Given the description of an element on the screen output the (x, y) to click on. 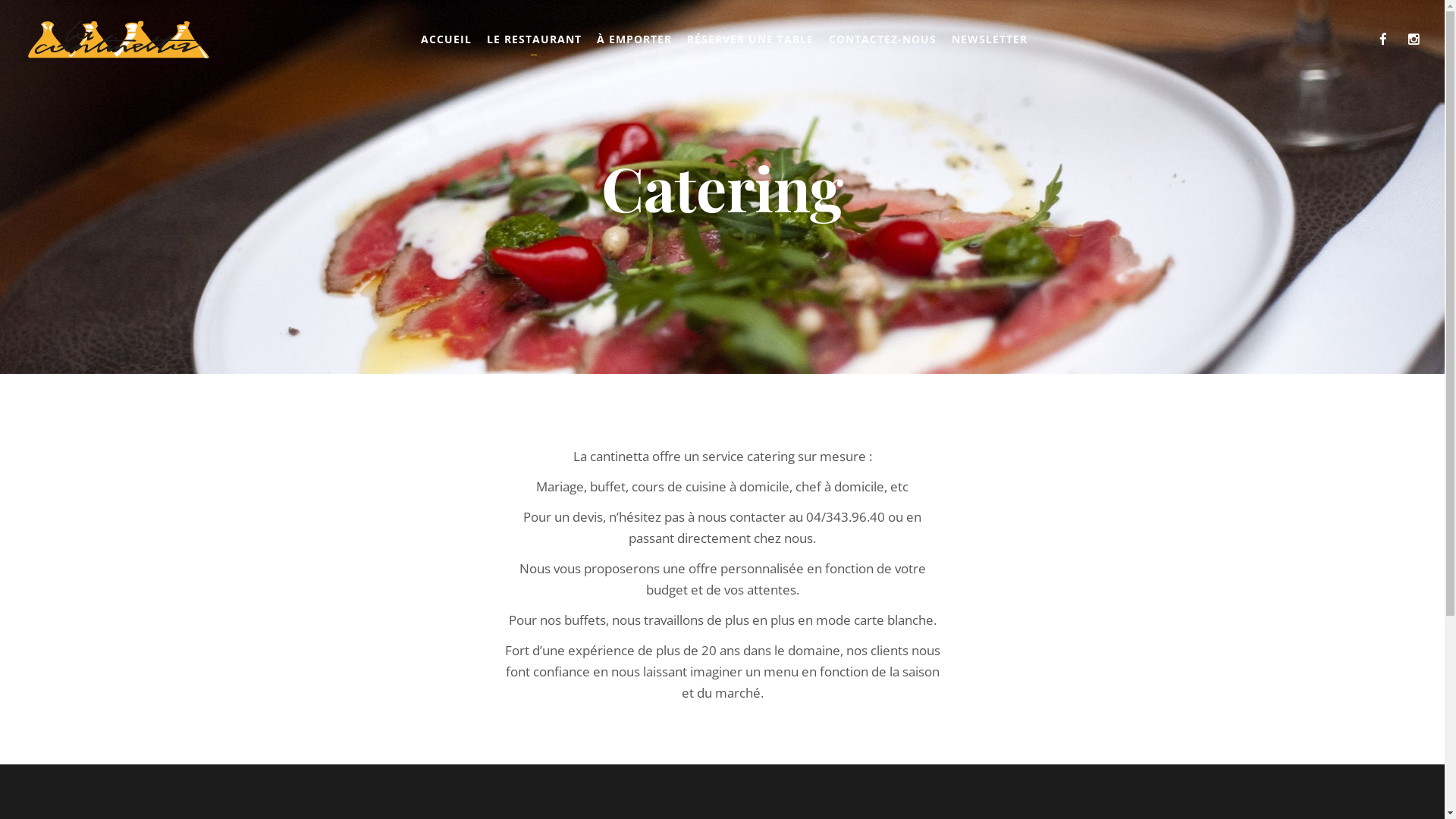
LE RESTAURANT Element type: text (534, 39)
ACCUEIL Element type: text (445, 39)
U Element type: text (1010, 410)
NEWSLETTER Element type: text (988, 39)
CONTACTEZ-NOUS Element type: text (881, 39)
